Given the description of an element on the screen output the (x, y) to click on. 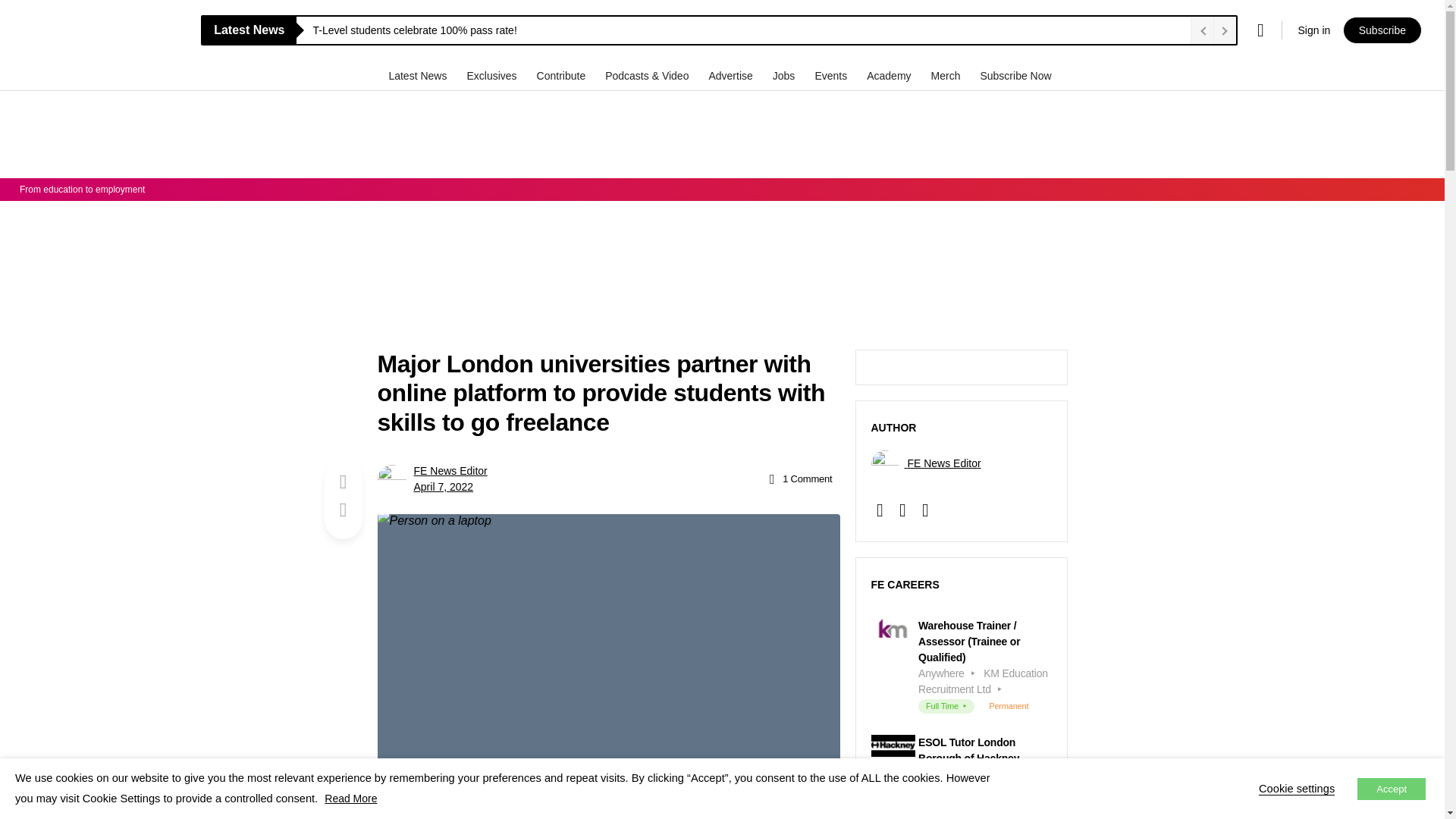
Sign in (1313, 30)
Exclusives (493, 75)
Latest News (419, 75)
Subscribe (1382, 30)
